Given the description of an element on the screen output the (x, y) to click on. 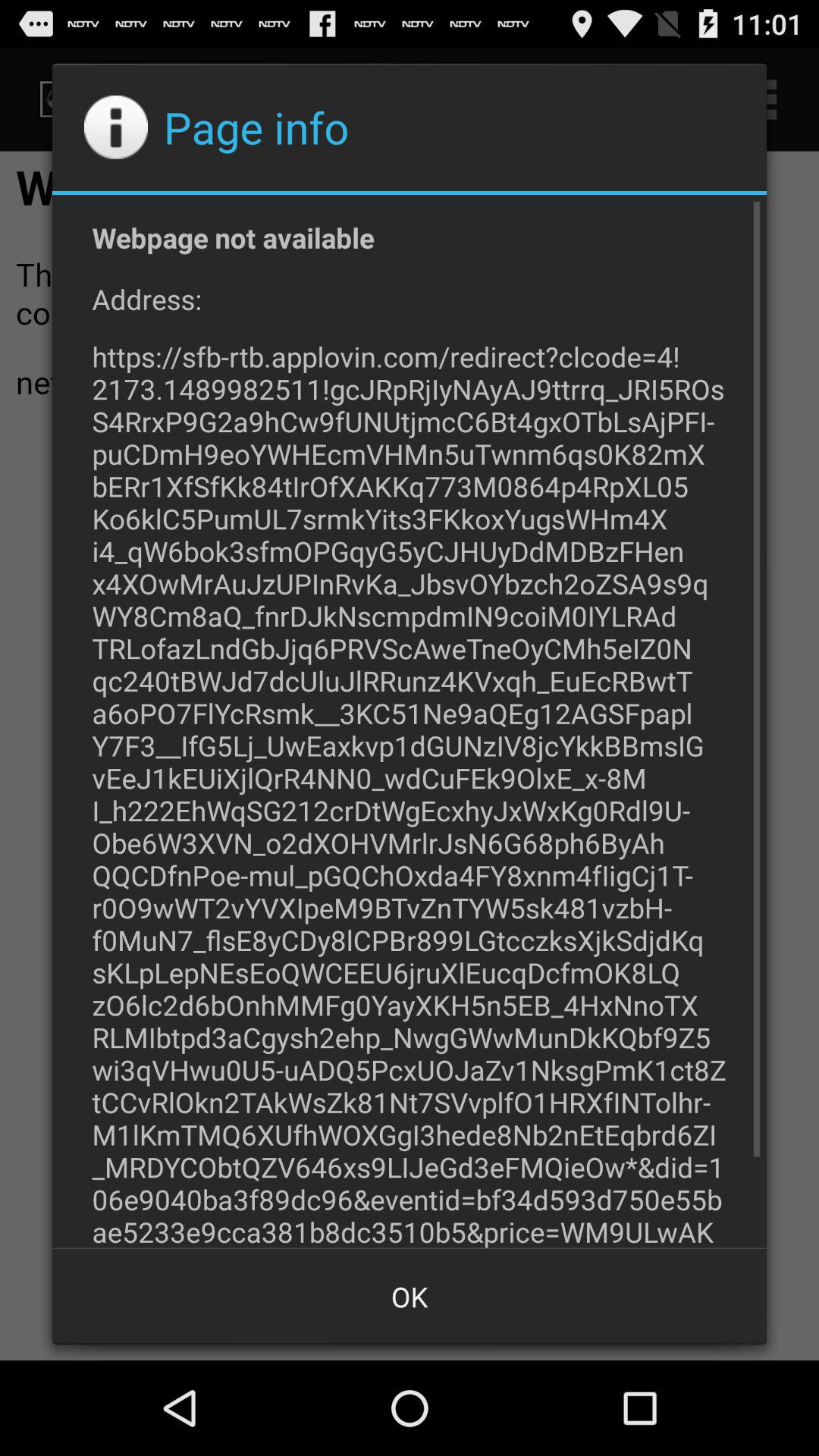
press the ok (409, 1296)
